Given the description of an element on the screen output the (x, y) to click on. 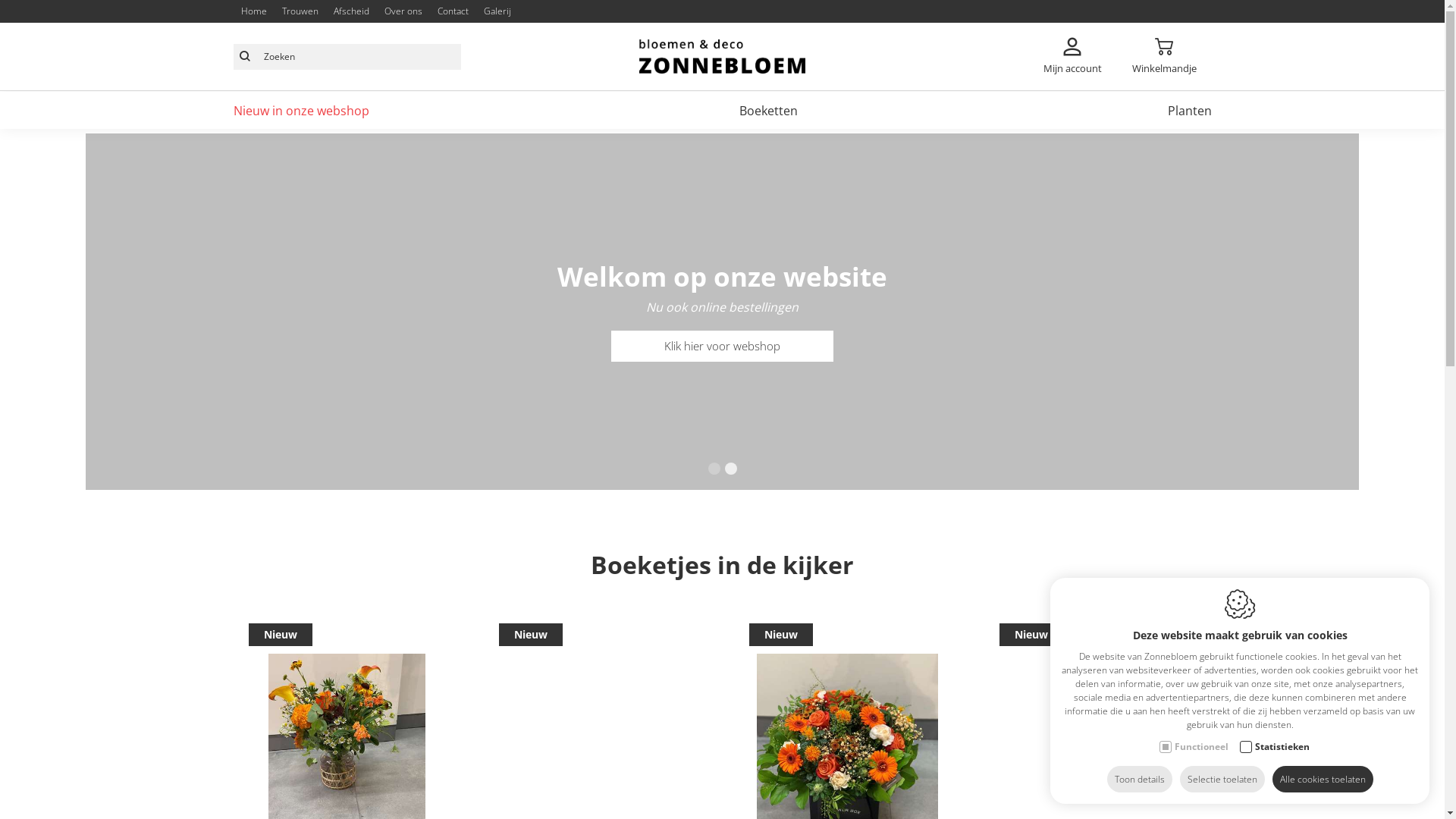
Zoeken Element type: hover (244, 56)
Over ons Element type: text (403, 11)
Afscheid Element type: text (350, 11)
Trouwen Element type: text (299, 11)
Galerij Element type: text (496, 11)
Alle cookies toelaten Element type: text (1322, 778)
Mijn account Element type: text (1072, 56)
Selectie toelaten Element type: text (1221, 778)
Contact Element type: text (452, 11)
Home Element type: text (252, 11)
2 Element type: text (730, 468)
Winkelmandje Element type: text (1164, 56)
Nieuw in onze webshop Element type: text (301, 110)
Klik hier voor webshop Element type: text (722, 345)
Planten Element type: text (1189, 110)
Boeketten Element type: text (767, 110)
1 Element type: text (714, 468)
